Given the description of an element on the screen output the (x, y) to click on. 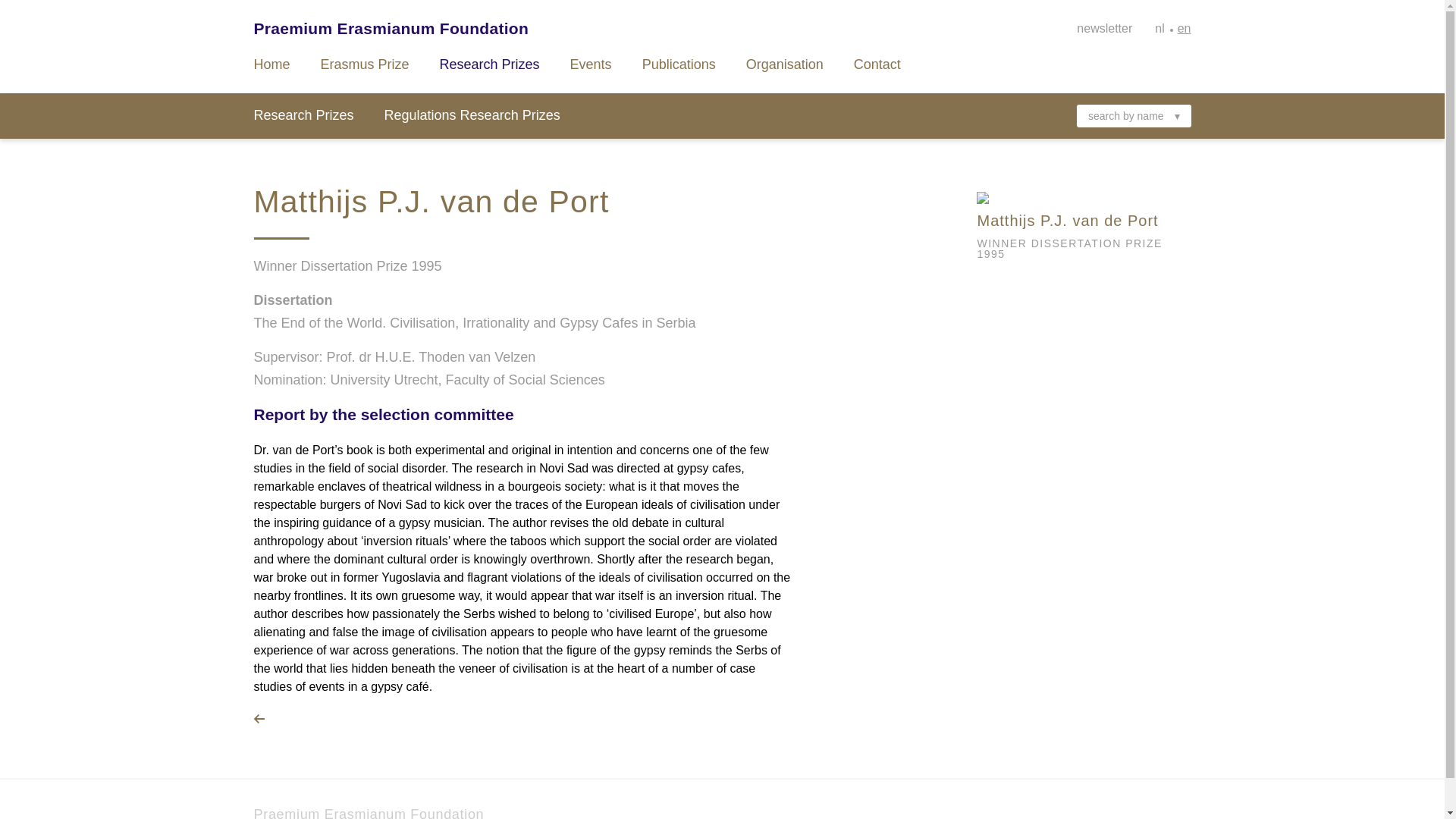
Organisation (784, 64)
Home (271, 64)
Research Prizes (489, 64)
Praemium Erasmianum Foundation (390, 28)
Praemium Erasmianum Foundation (368, 812)
Regulations Research Prizes (472, 115)
en (1184, 28)
EN (1184, 28)
Publications (679, 64)
Research Prizes (303, 115)
